Given the description of an element on the screen output the (x, y) to click on. 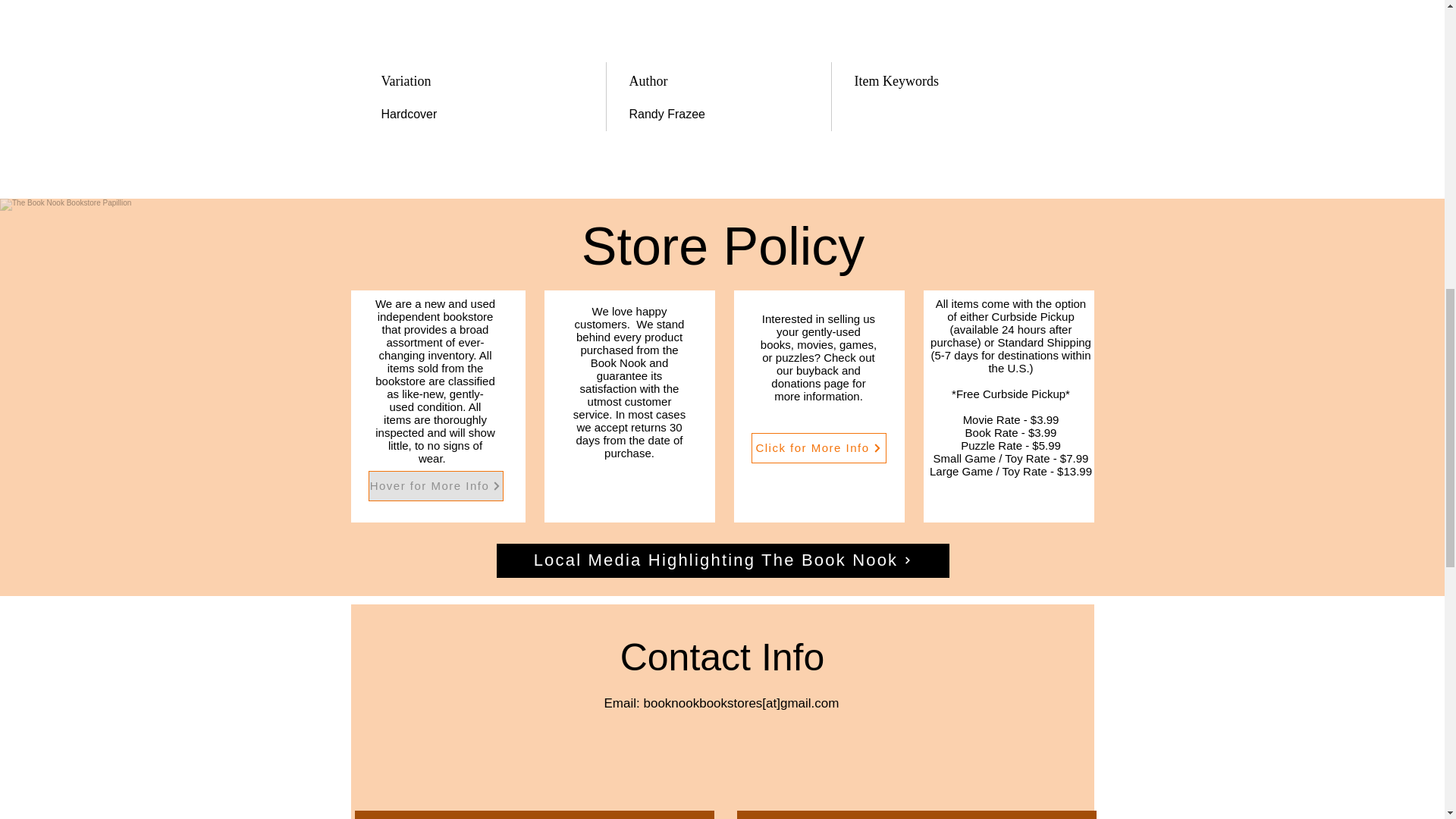
Local Media Highlighting The Book Nook (722, 560)
Contact Info (722, 657)
Click for More Info (818, 448)
Hover for More Info (435, 485)
